Given the description of an element on the screen output the (x, y) to click on. 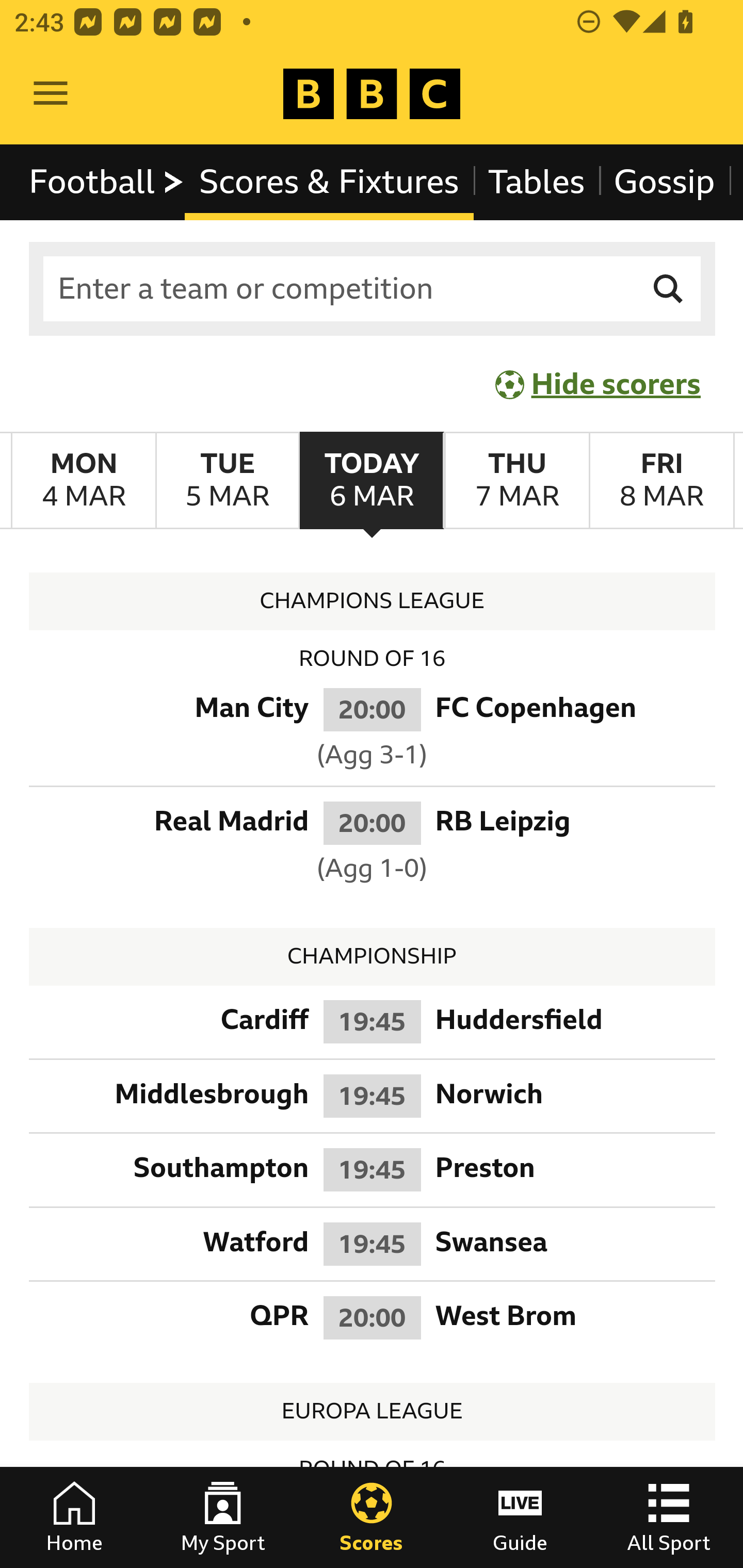
Open Menu (50, 93)
Football  (106, 181)
Scores & Fixtures (329, 181)
Tables (536, 181)
Gossip (664, 181)
Search (669, 289)
Hide scorers (598, 383)
MondayMarch 4th Monday March 4th (83, 480)
TuesdayMarch 5th Tuesday March 5th (227, 480)
ThursdayMarch 7th Thursday March 7th (516, 480)
FridayMarch 8th Friday March 8th (661, 480)
Home (74, 1517)
My Sport (222, 1517)
Guide (519, 1517)
All Sport (668, 1517)
